Given the description of an element on the screen output the (x, y) to click on. 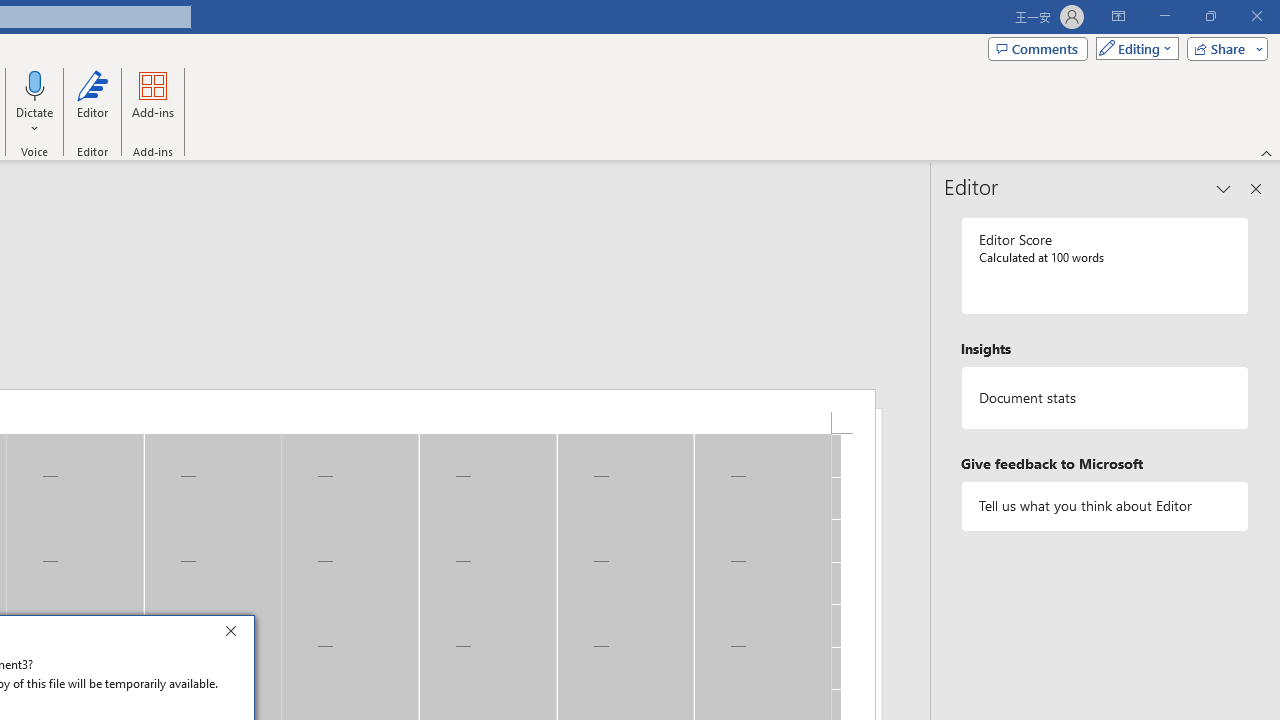
Editor (92, 102)
Close pane (1256, 188)
Tell us what you think about Editor (1105, 506)
Document statistics (1105, 398)
Mode (1133, 47)
Task Pane Options (1224, 188)
